Given the description of an element on the screen output the (x, y) to click on. 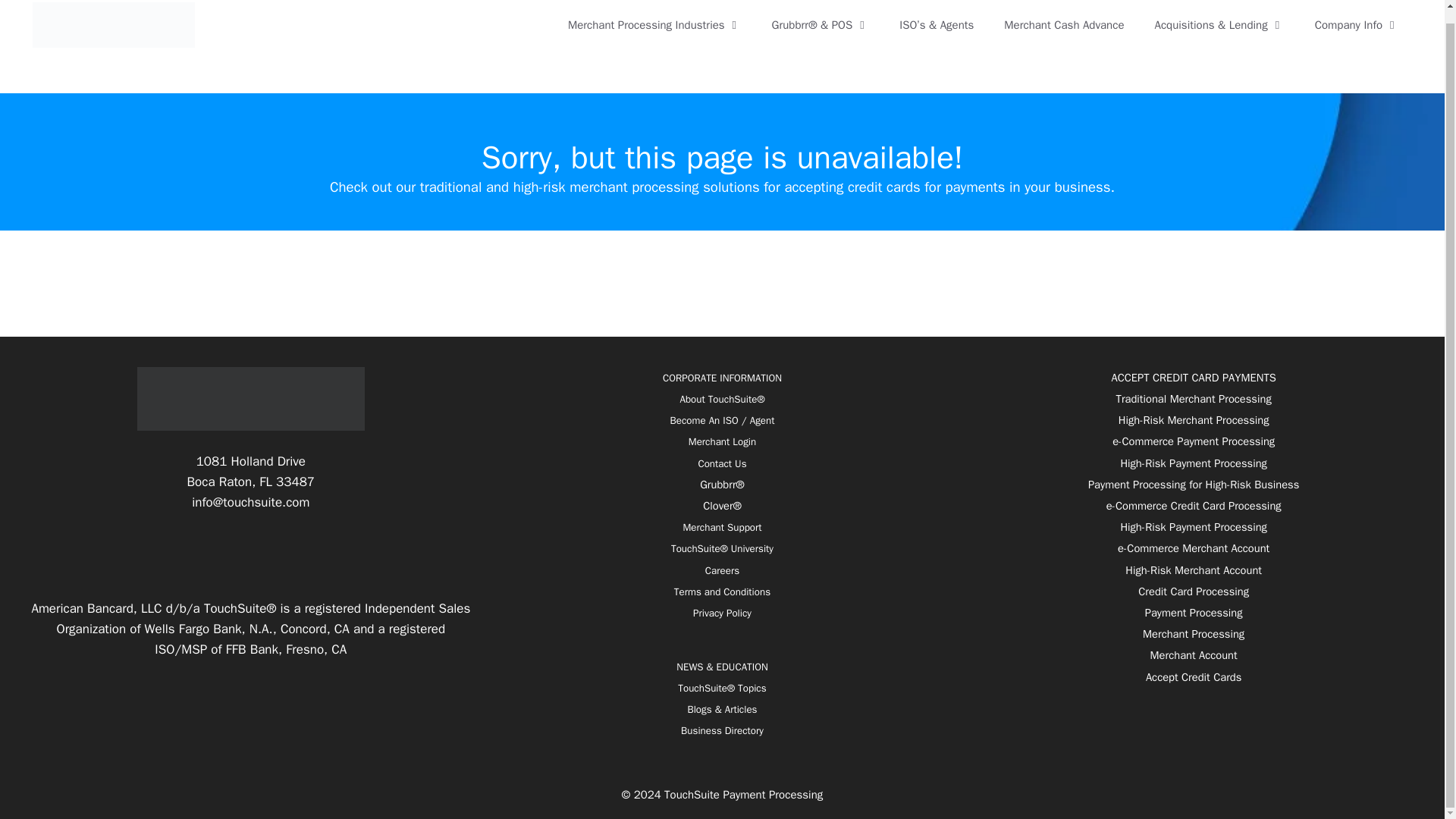
Company Info (1356, 24)
Merchant Processing Industries (655, 24)
Merchant Login (721, 440)
Merchant Cash Advance (1063, 24)
